Given the description of an element on the screen output the (x, y) to click on. 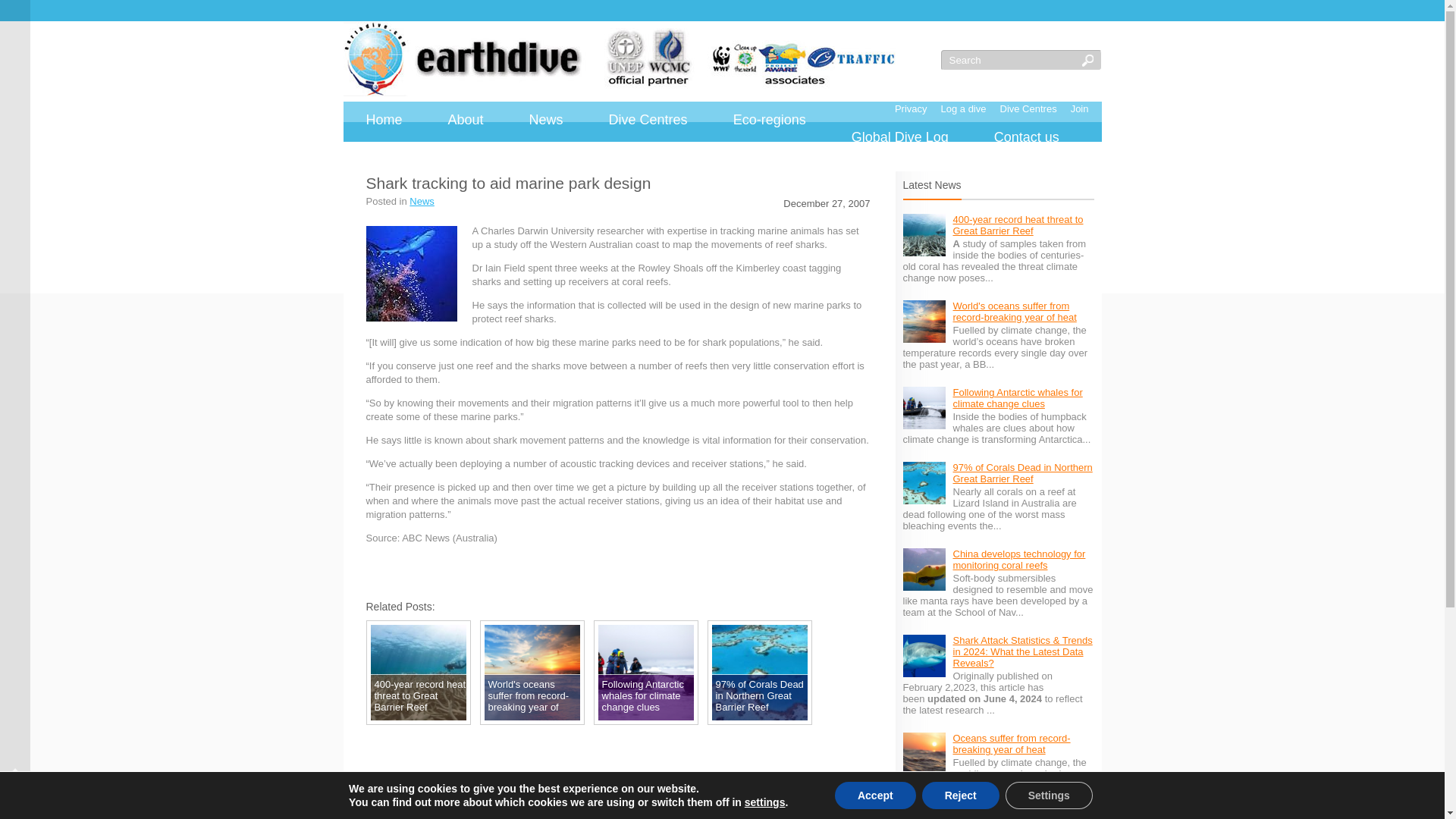
Search (1010, 59)
Dive Centres (648, 119)
World's oceans suffer from record-breaking year of heat (1013, 311)
Oceans suffer from record-breaking year of heat (1011, 743)
Following Antarctic whales for climate change clues (1016, 397)
400-year record heat threat to Great Barrier Reef (1017, 224)
Earthdive (619, 59)
China develops technology for monitoring coral reefs (1018, 558)
News (546, 119)
Dive Centres (1028, 108)
